Given the description of an element on the screen output the (x, y) to click on. 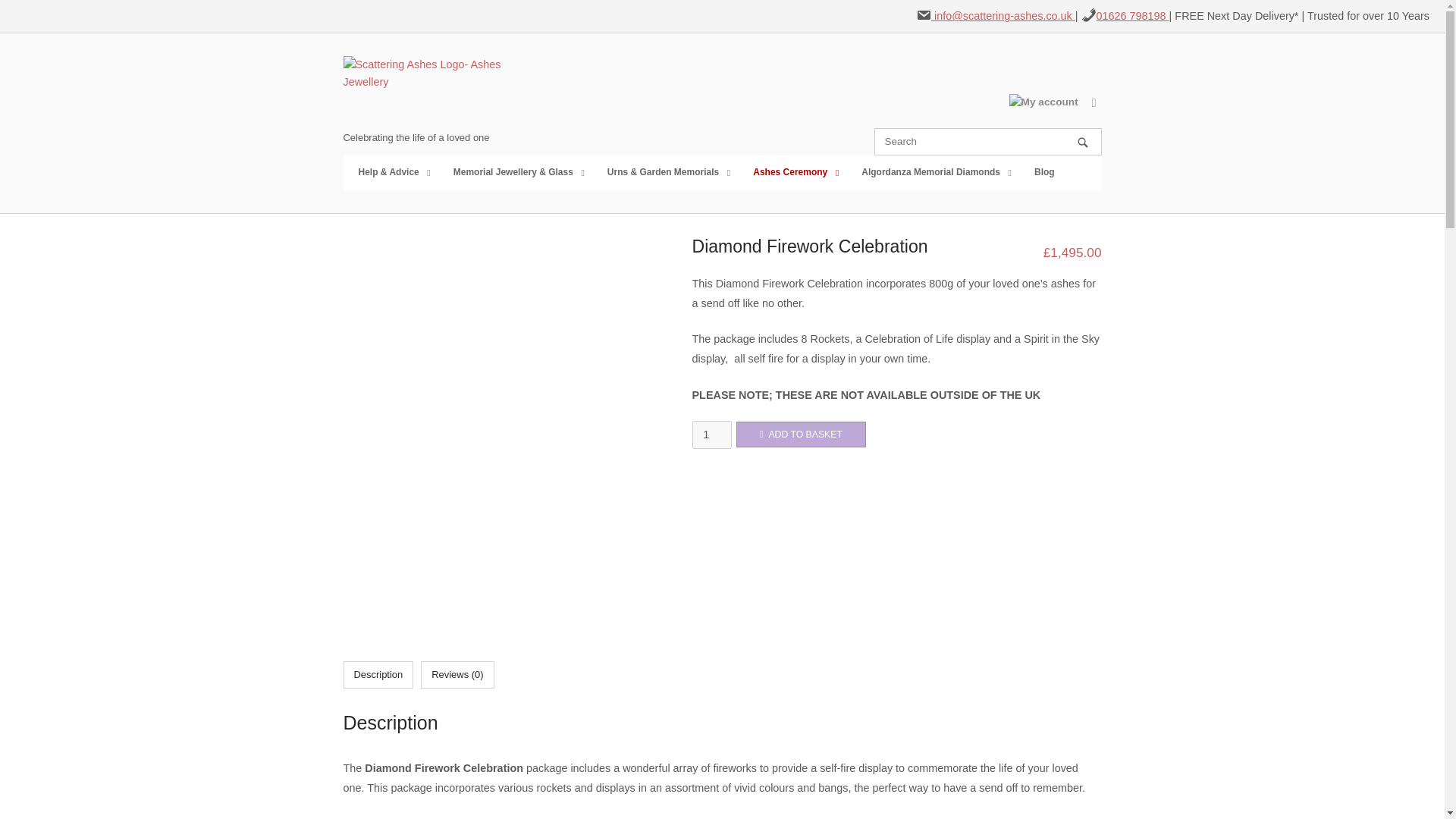
1 (710, 434)
01626 798198 (1132, 15)
My account (1043, 102)
Home (433, 91)
